Given the description of an element on the screen output the (x, y) to click on. 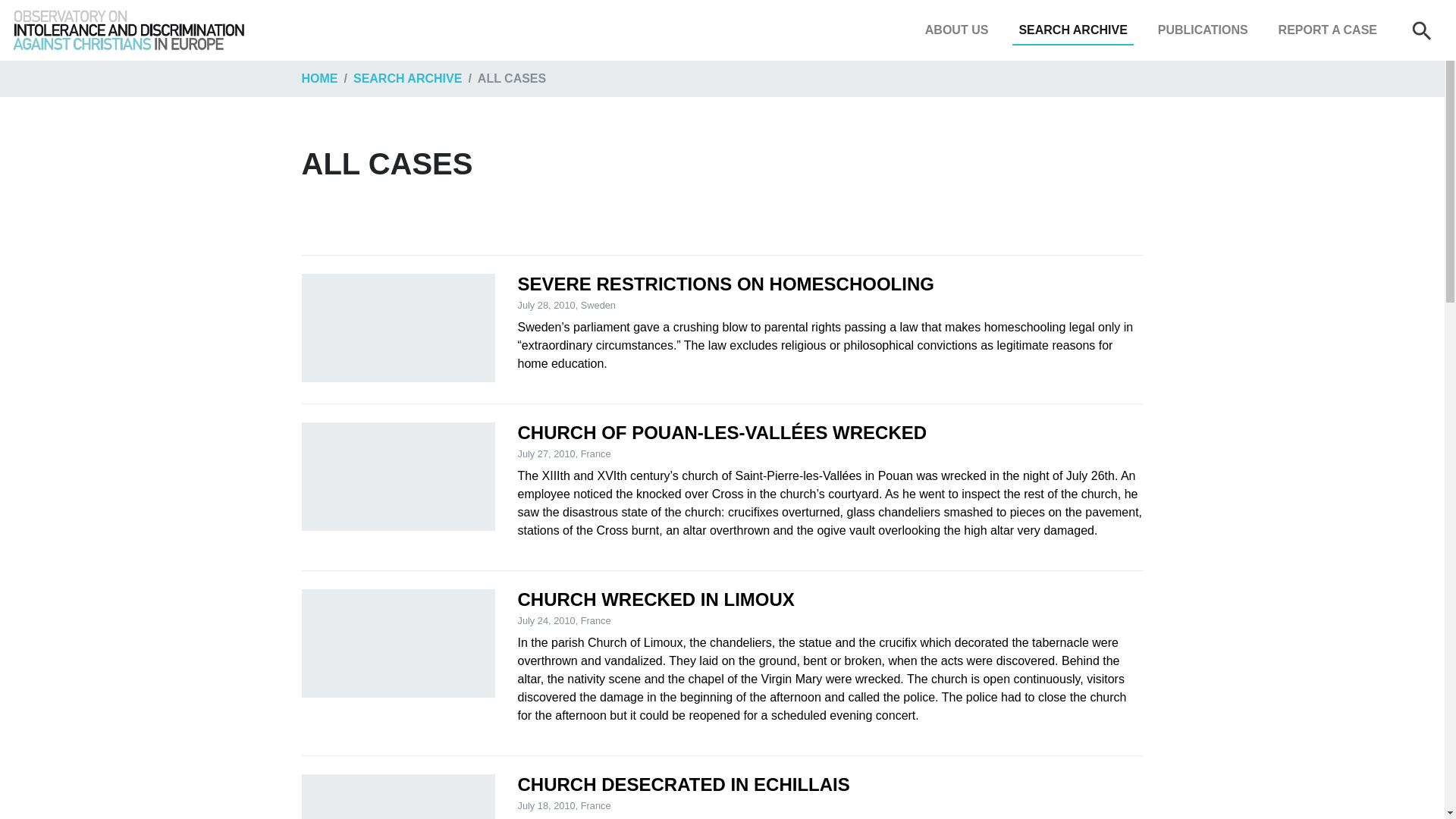
ABOUT US (956, 30)
About us (956, 30)
Search archive (1071, 30)
Report a case (1327, 30)
PUBLICATIONS (1202, 30)
Publications (1202, 30)
REPORT A CASE (1327, 30)
SEARCH ARCHIVE (1071, 30)
